Given the description of an element on the screen output the (x, y) to click on. 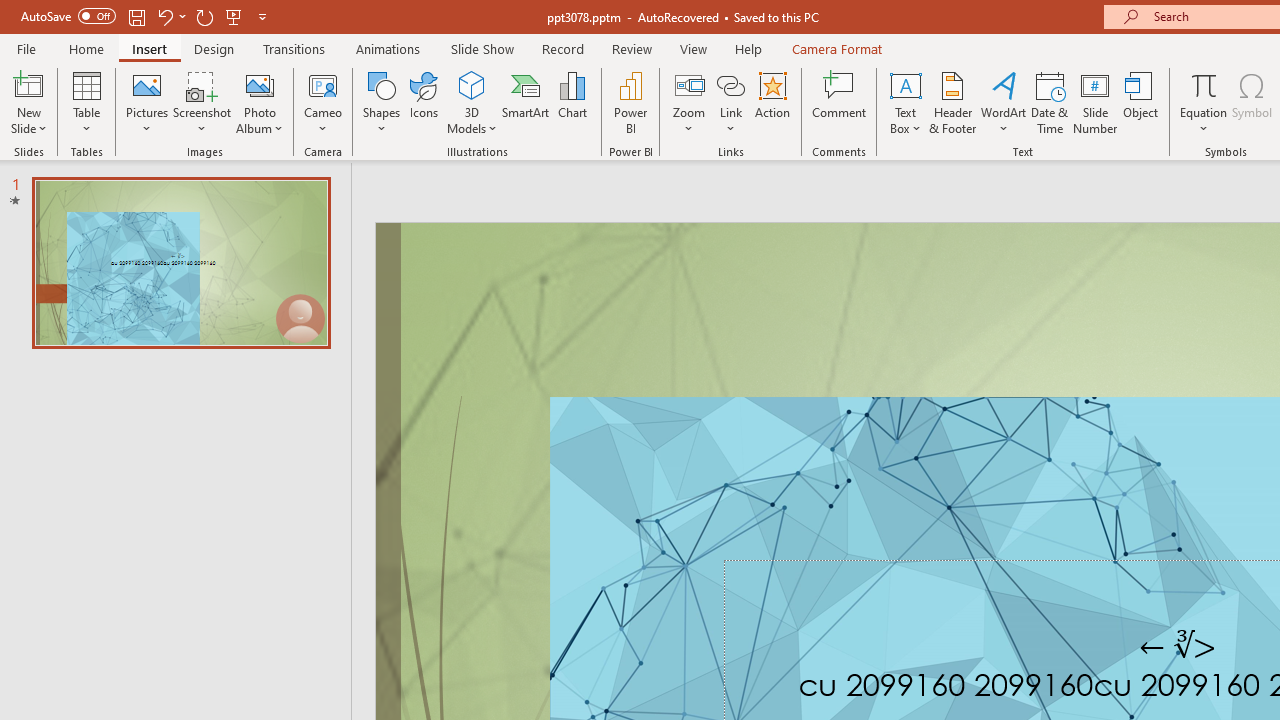
Photo Album... (259, 102)
Slide Number (1095, 102)
Comment (839, 102)
Symbol... (1252, 102)
Icons (424, 102)
Link (731, 102)
Link (731, 84)
3D Models (472, 84)
Table (86, 102)
